Given the description of an element on the screen output the (x, y) to click on. 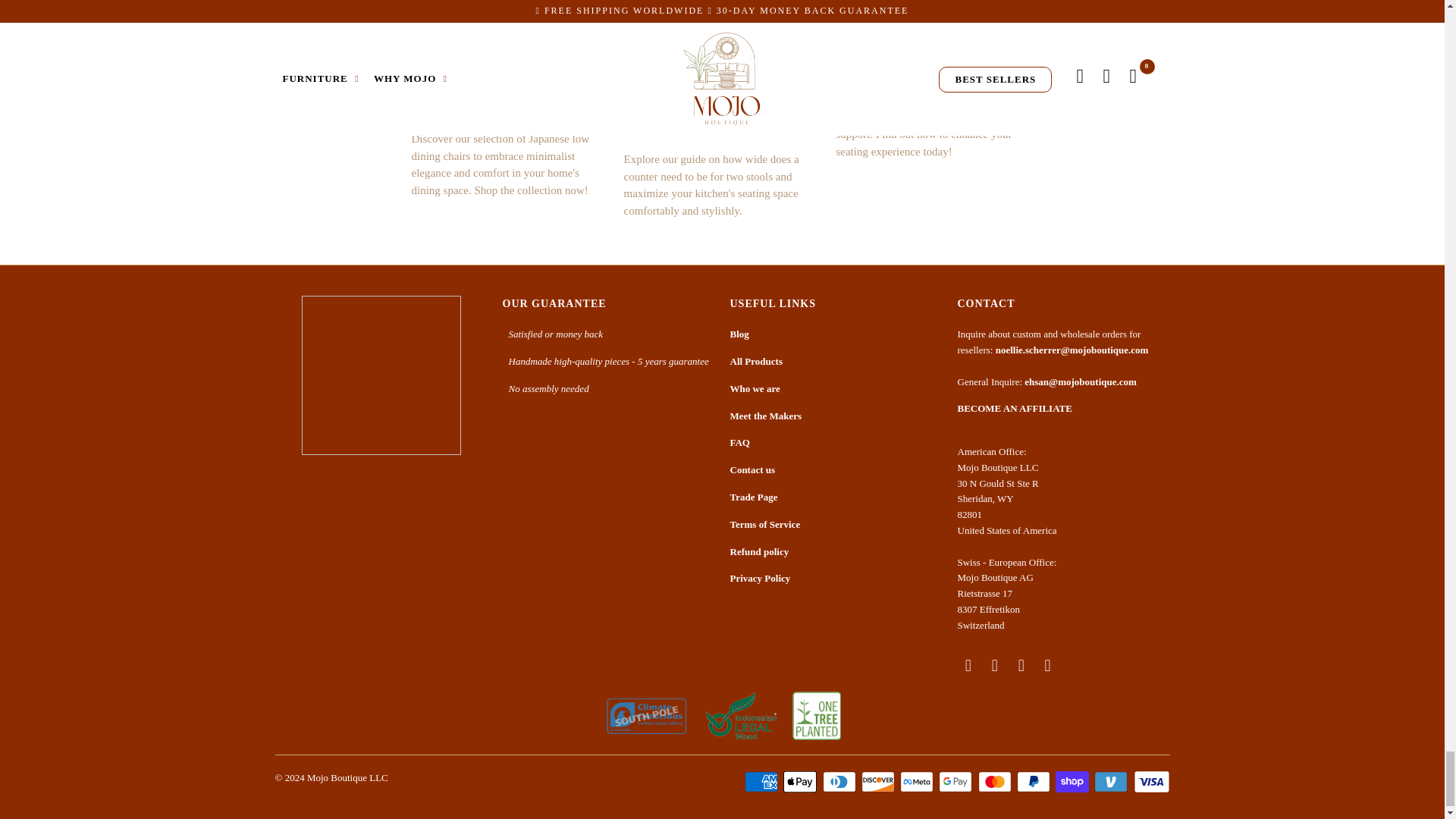
Meta Pay (917, 781)
Discover (879, 781)
PayPal (1034, 781)
Cozy Japanese Low Dining Chairs for Your Home (497, 84)
Venmo (1112, 781)
Google Pay (957, 781)
Mastercard (996, 781)
Shop Pay (1073, 781)
Apple Pay (801, 781)
Visa (1150, 781)
Cozy Japanese Low Dining Chairs for Your Home (509, 18)
Diners Club (840, 781)
American Express (762, 781)
